Given the description of an element on the screen output the (x, y) to click on. 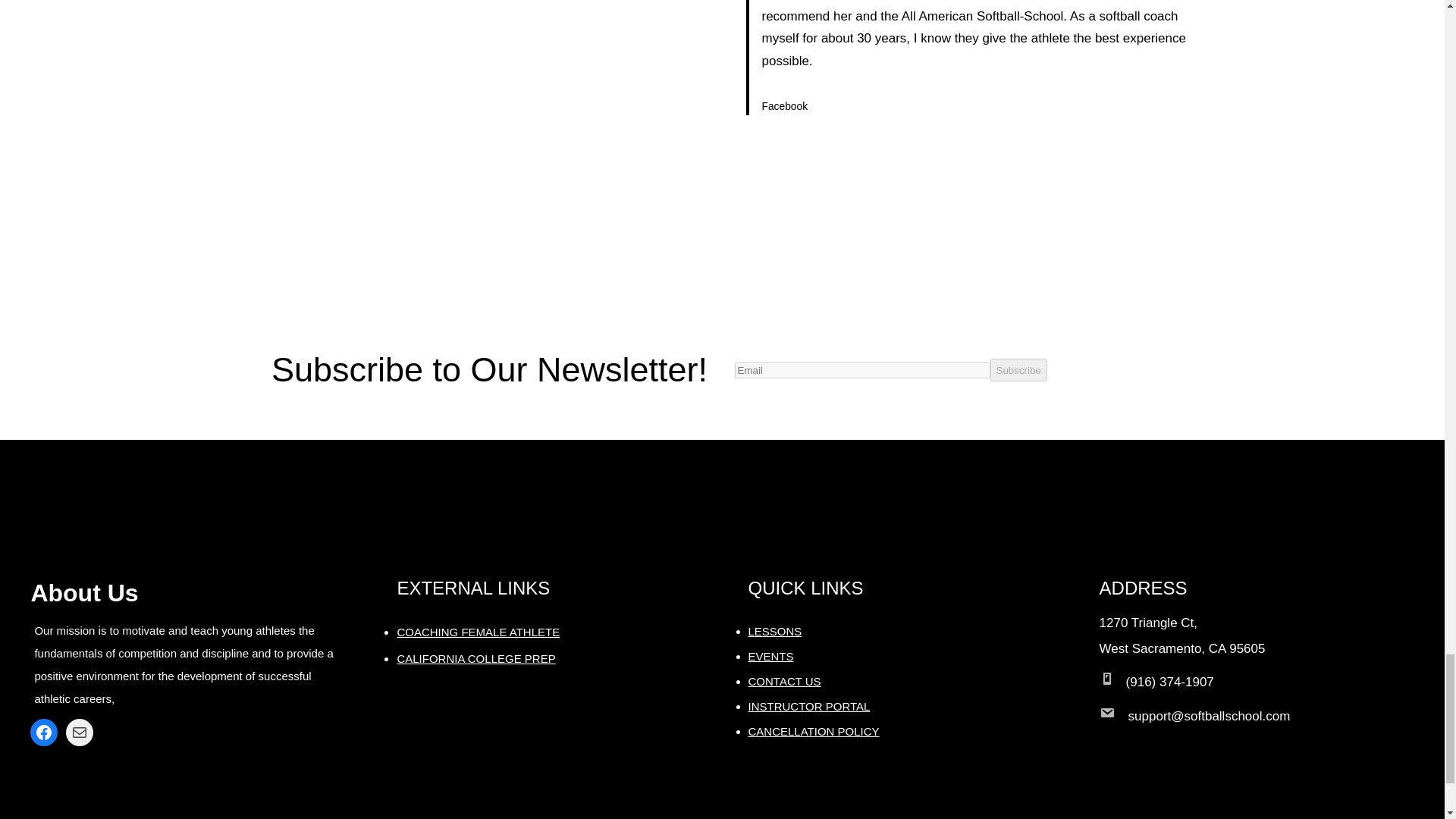
CONTACT US (784, 680)
CALIFORNIA COLLEGE PREP (475, 658)
CANCELLATION POLICY (813, 730)
EVENTS (770, 656)
Facebook (44, 732)
COACHING FEMALE ATHLETE (477, 631)
INSTRUCTOR PORTAL (808, 706)
Subscribe (1018, 369)
Subscribe (1018, 369)
LESSONS (775, 631)
